Given the description of an element on the screen output the (x, y) to click on. 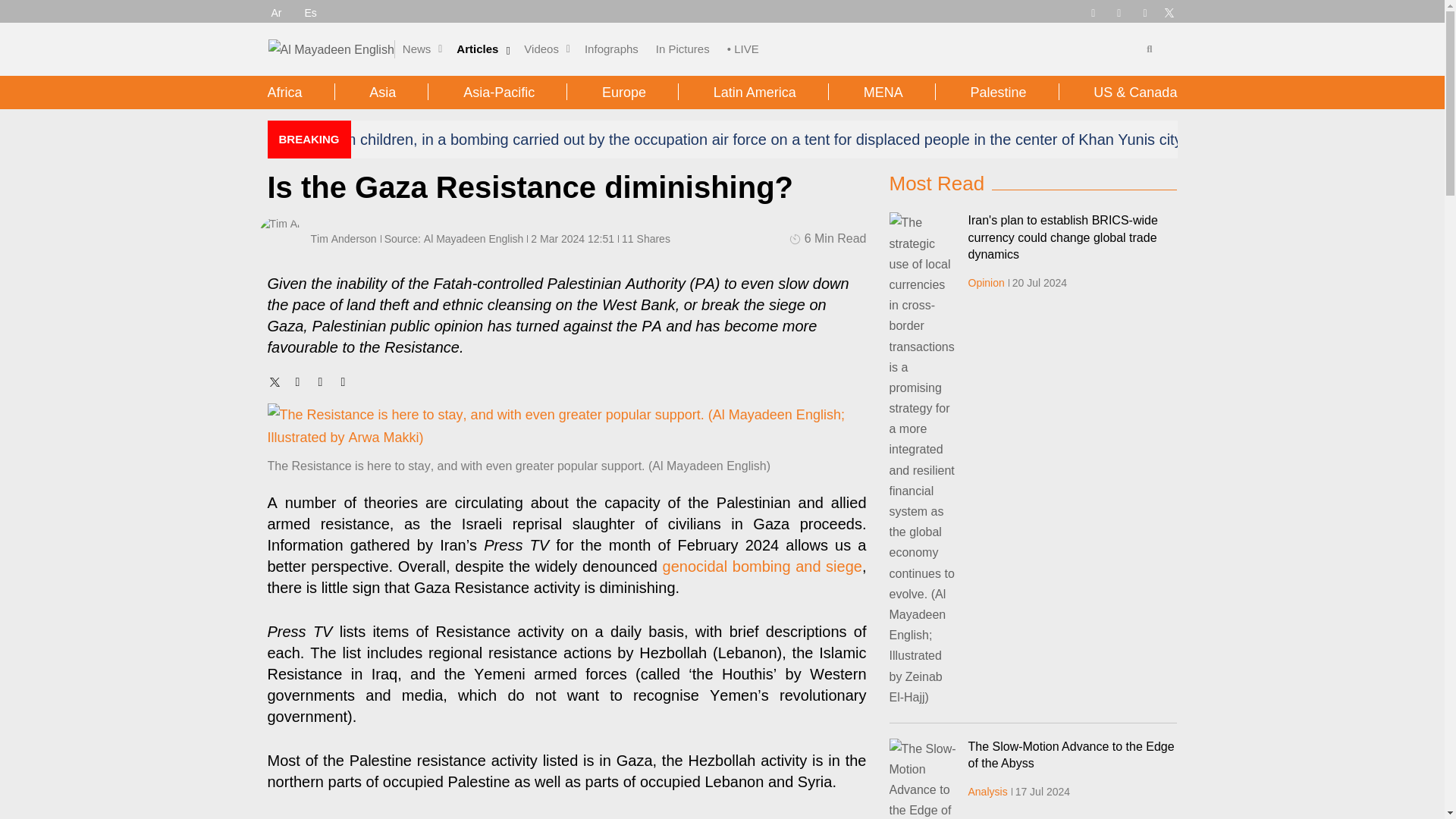
Es (310, 12)
Ar (276, 12)
Facebook (1118, 11)
The Slow-Motion Advance to the Edge of the Abyss (922, 778)
Opinion (986, 282)
News (416, 48)
Videos (541, 48)
Telegram (1092, 11)
Articles (477, 48)
Instagram (1144, 11)
Analysis (987, 791)
In Pictures (683, 48)
Twitter (1168, 12)
Infographs (612, 48)
Twitter (274, 380)
